Given the description of an element on the screen output the (x, y) to click on. 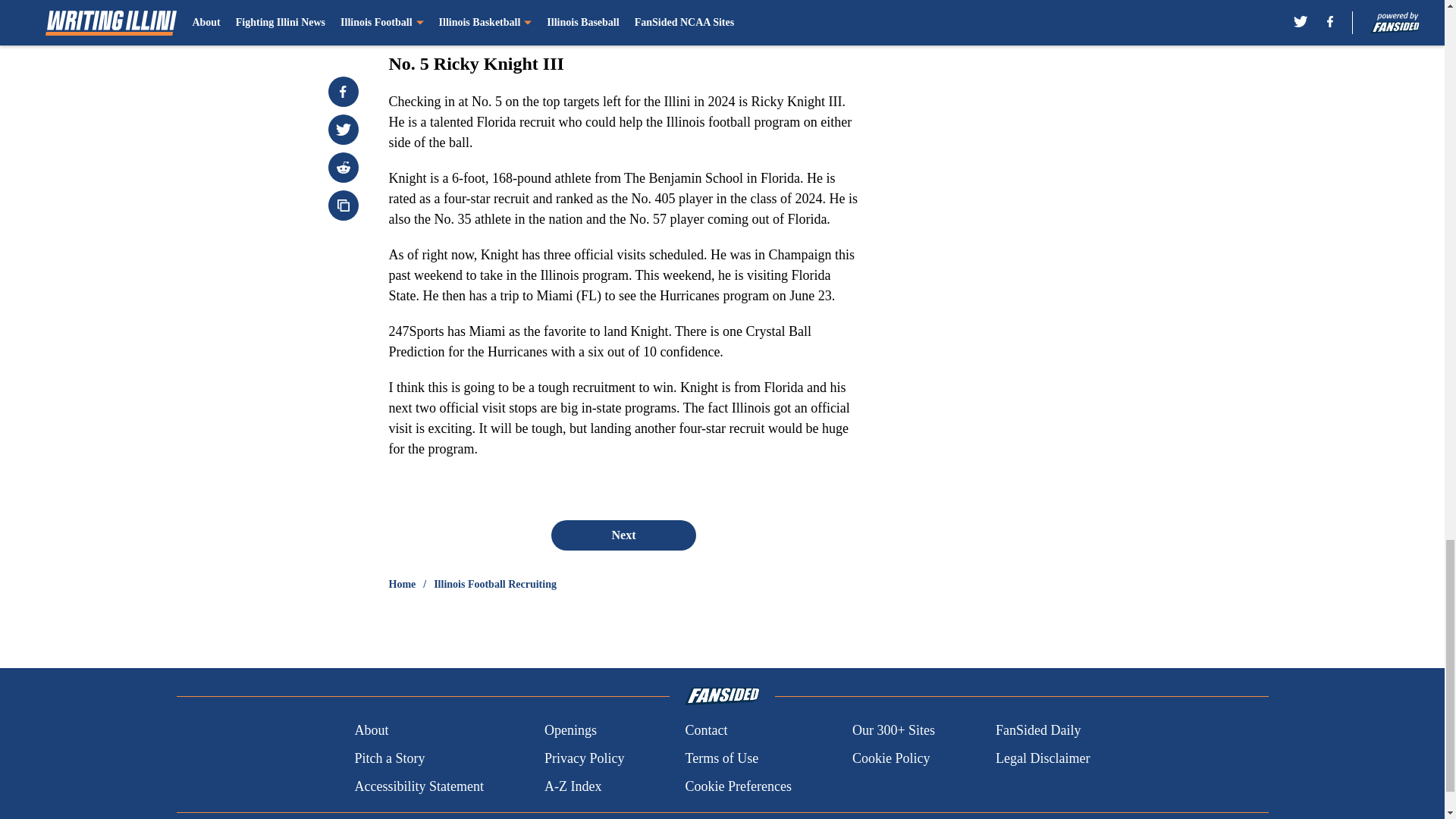
About (370, 730)
Next (622, 535)
Cookie Policy (890, 758)
Terms of Use (721, 758)
Contact (705, 730)
Pitch a Story (389, 758)
FanSided Daily (1038, 730)
Privacy Policy (584, 758)
Illinois Football Recruiting (494, 584)
Openings (570, 730)
